Given the description of an element on the screen output the (x, y) to click on. 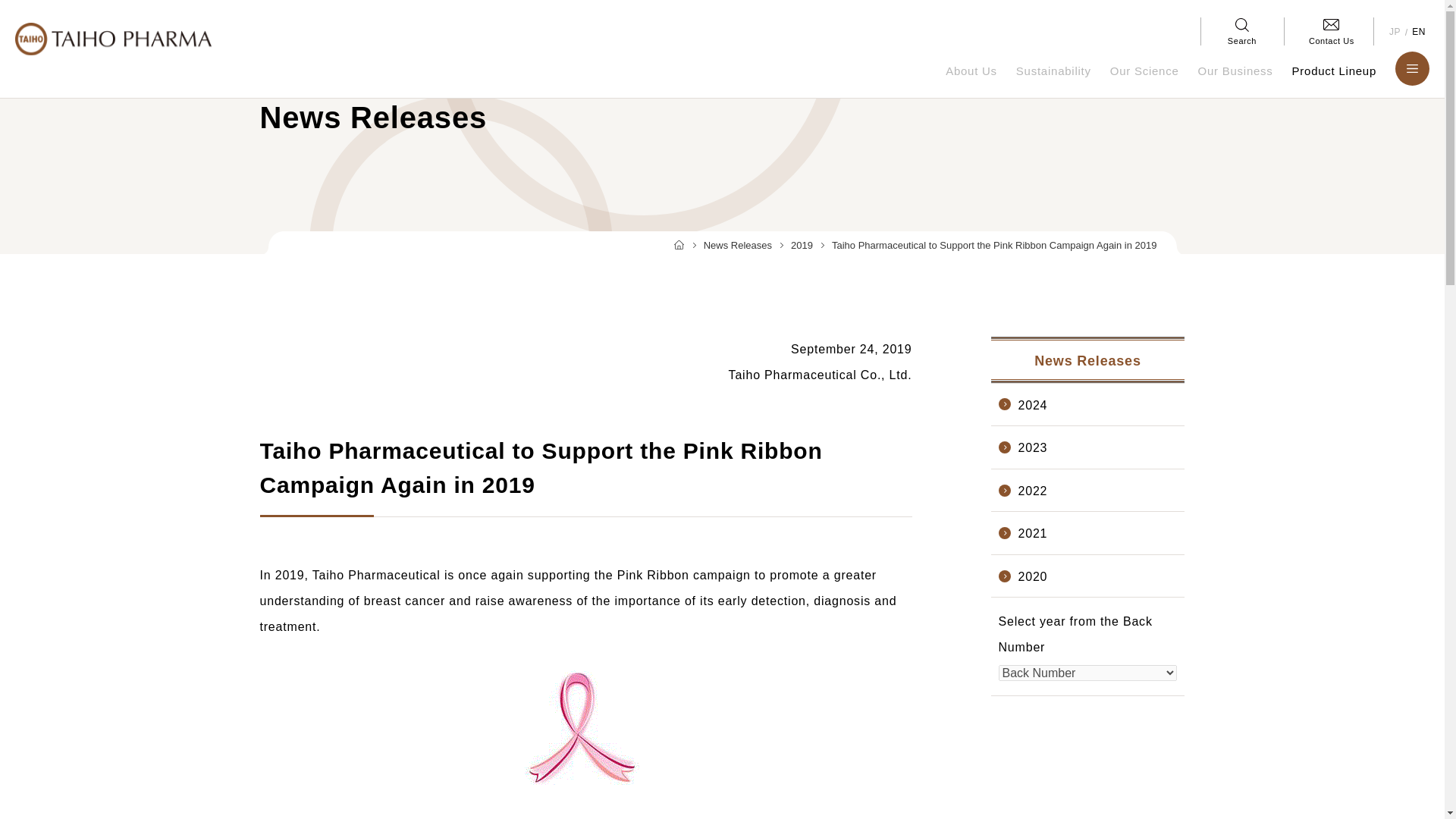
About Us (970, 80)
Search (1241, 31)
EN (1418, 31)
Our Business (1236, 80)
Contact Us (1331, 31)
Sustainability (1054, 80)
JP (1395, 31)
Product Lineup (1334, 80)
Our Science (1144, 80)
